Given the description of an element on the screen output the (x, y) to click on. 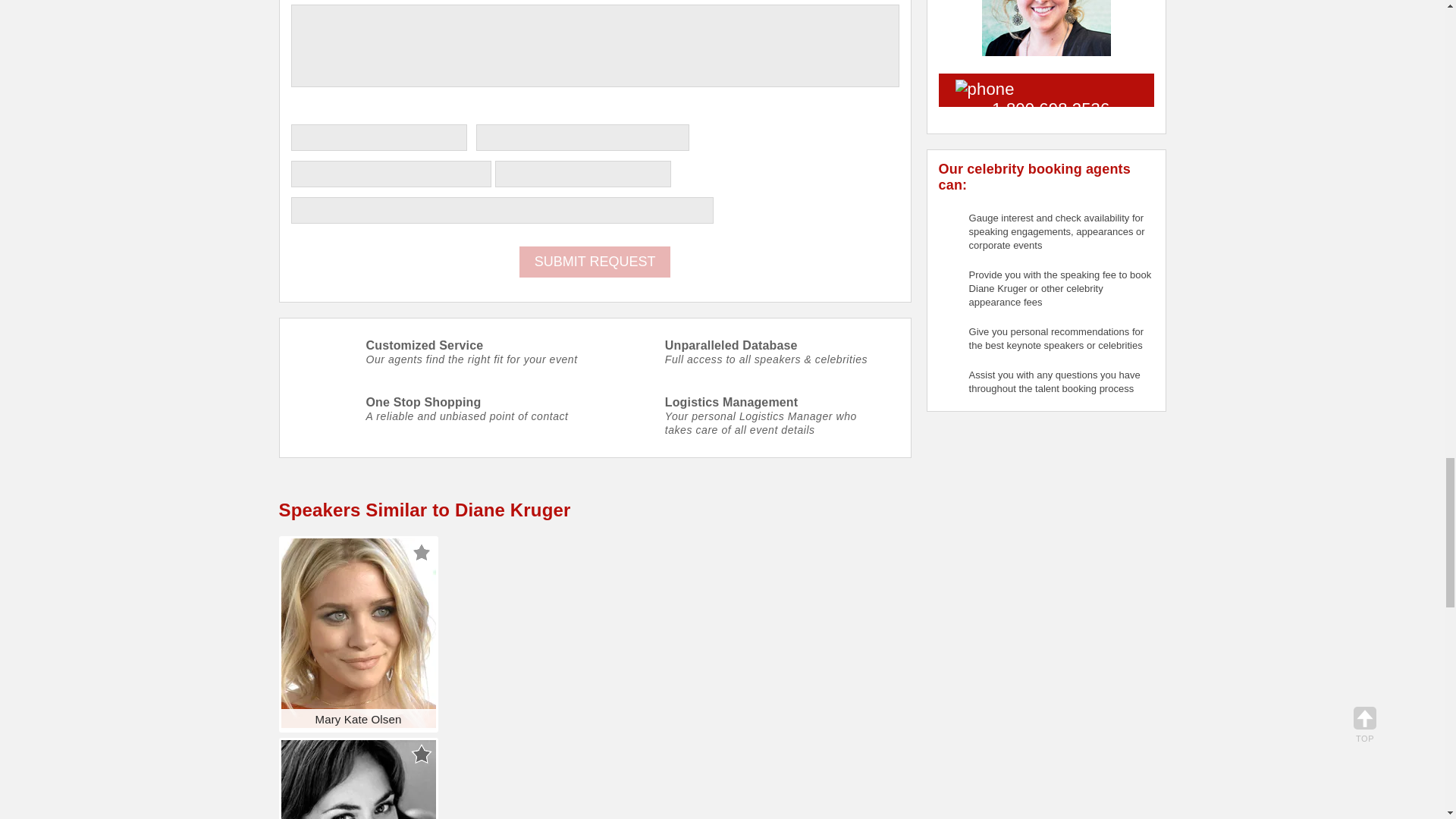
Maggie Siff (358, 779)
SUBMIT REQUEST (595, 261)
